Given the description of an element on the screen output the (x, y) to click on. 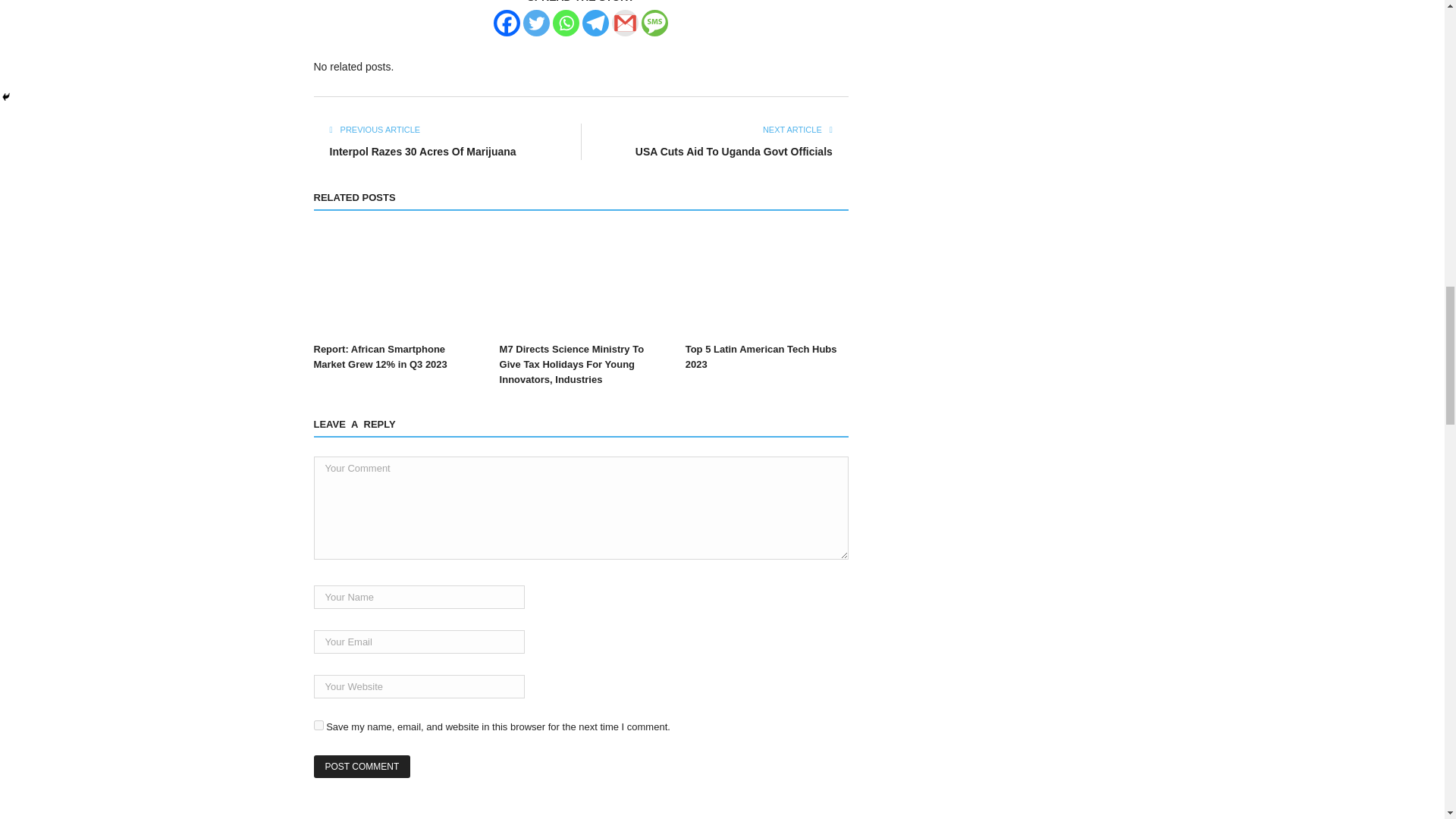
Post Comment (362, 766)
yes (318, 725)
